Given the description of an element on the screen output the (x, y) to click on. 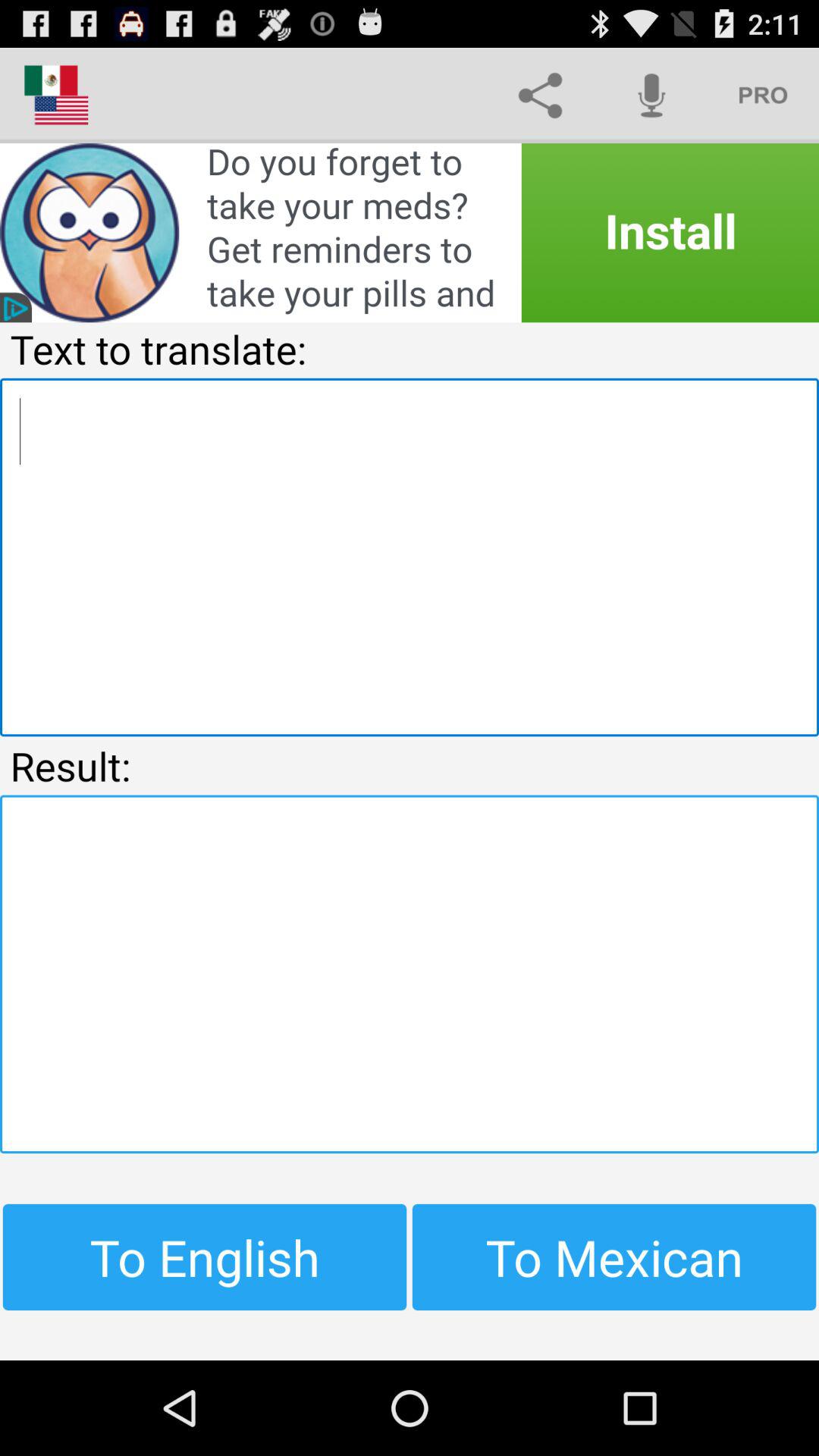
tap item at the bottom right corner (614, 1257)
